Given the description of an element on the screen output the (x, y) to click on. 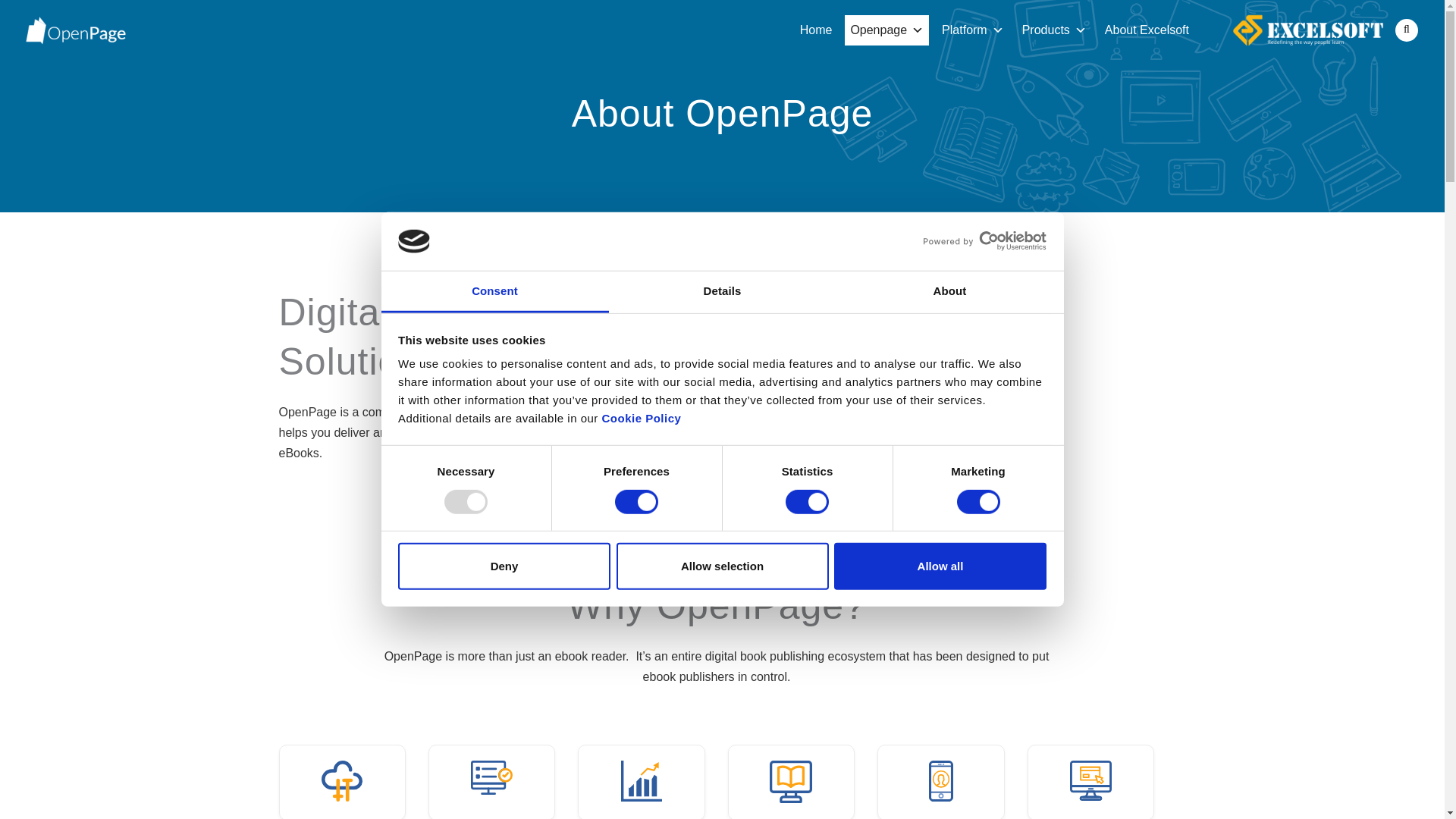
Details (721, 292)
About (948, 292)
Consent (494, 292)
Cookie Policy (641, 418)
